Given the description of an element on the screen output the (x, y) to click on. 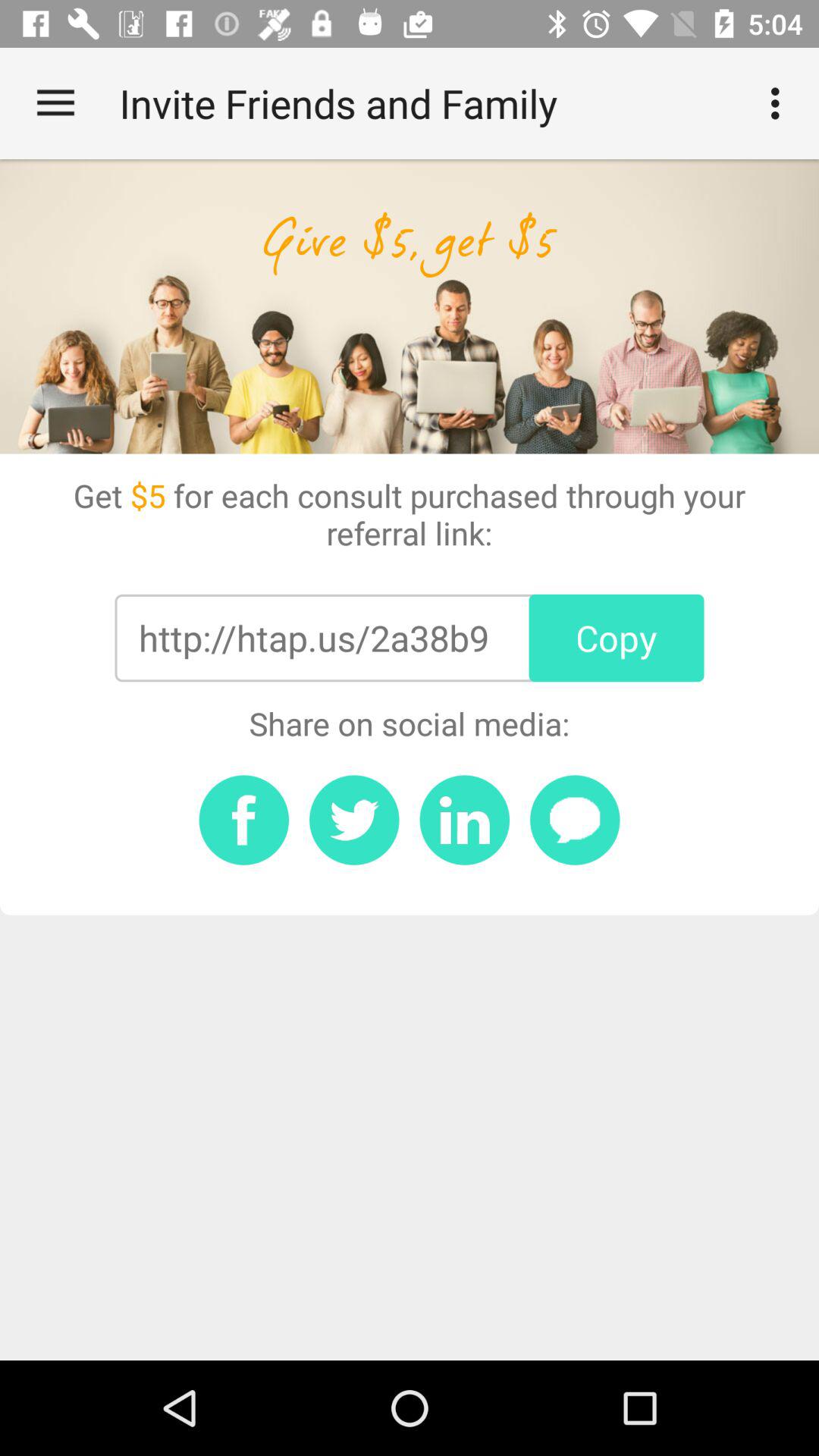
select the copy icon (616, 637)
